Given the description of an element on the screen output the (x, y) to click on. 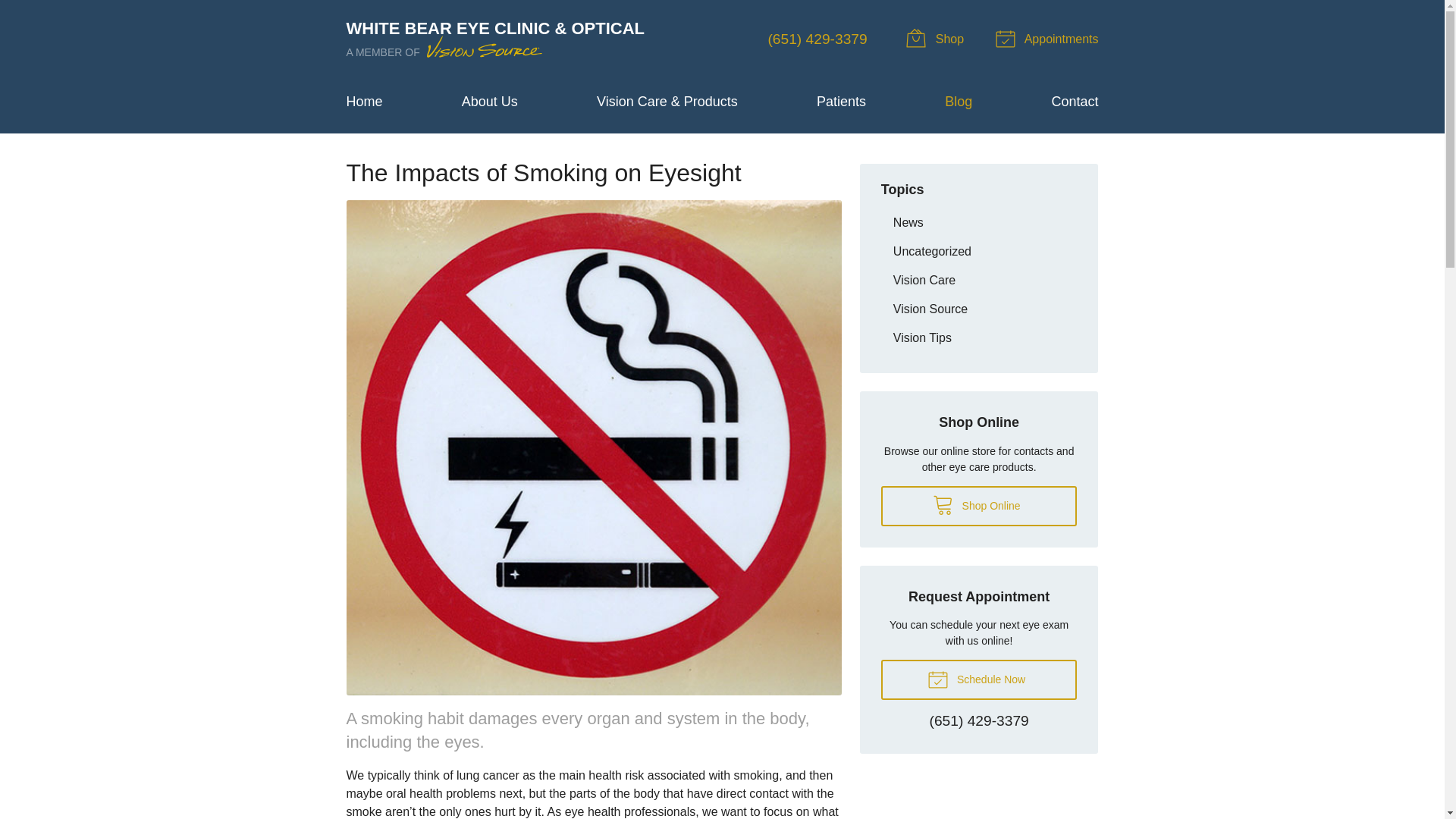
Uncategorized (978, 251)
Vision Tips (978, 337)
Shop Online (978, 506)
Shop Online (978, 506)
Shop Online (937, 39)
Call practice (979, 721)
Schedule Now (978, 680)
Vision Care (978, 280)
Request Appointment (1048, 39)
Appointments (1048, 39)
Call practice (816, 38)
Contact (1074, 101)
Patients (841, 101)
Home (363, 101)
Schedule Now (978, 680)
